Given the description of an element on the screen output the (x, y) to click on. 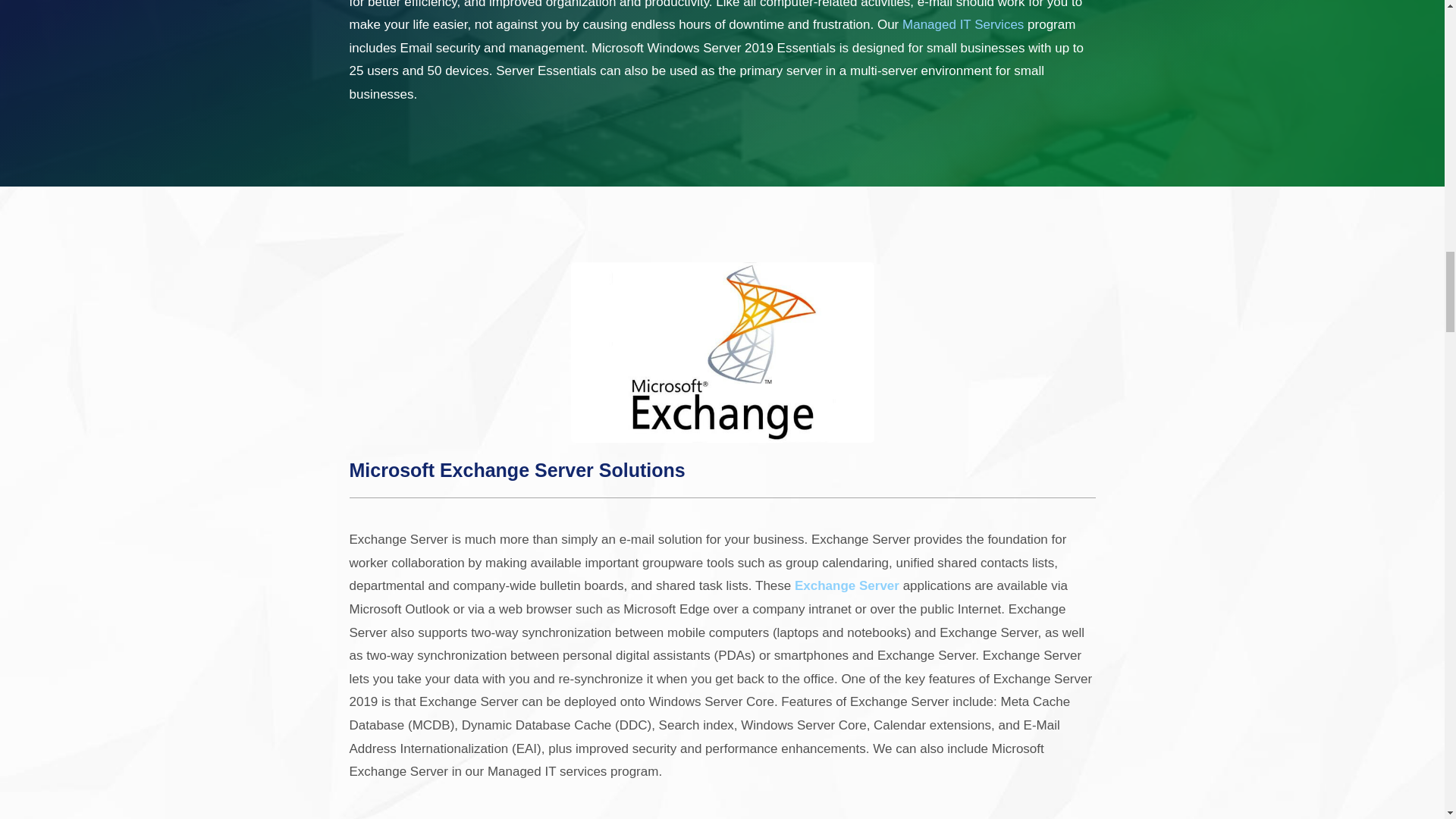
Managed IT Services and support (962, 24)
Managed IT Services (962, 24)
Exchange Server (846, 585)
